Given the description of an element on the screen output the (x, y) to click on. 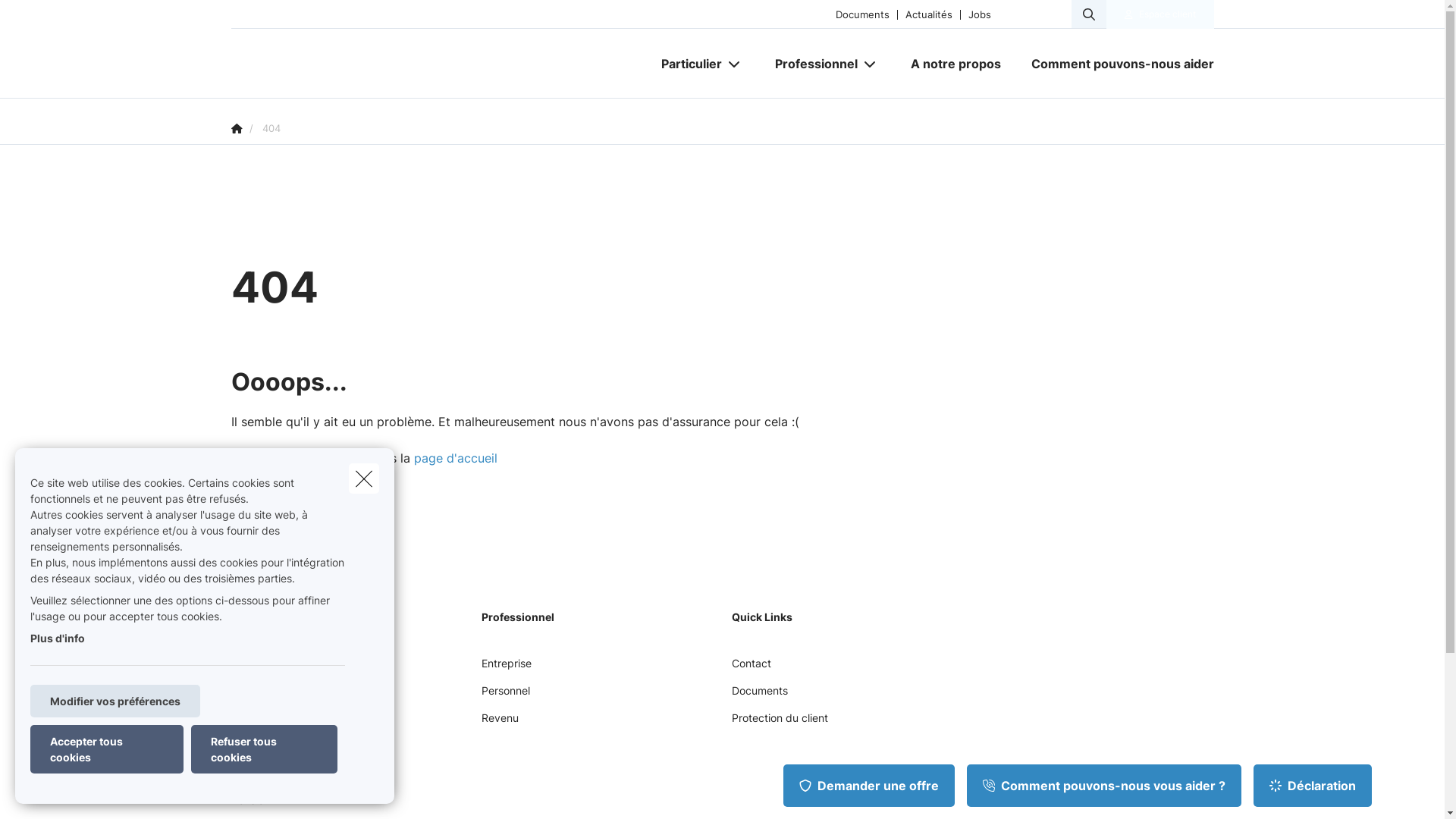
Personnel Element type: text (504, 695)
page d'accueil Element type: text (455, 457)
Hospitalisation Element type: text (266, 750)
Refuser tous cookies Element type: text (264, 748)
Plus d'info Element type: text (57, 637)
A notre propos Element type: text (954, 63)
Entreprise Element type: text (505, 668)
Espace client Element type: text (1167, 14)
Rechercher Element type: text (54, 18)
Comment pouvons-nous aider Element type: text (1115, 63)
Revenu Element type: text (498, 723)
Professionnel Element type: text (810, 63)
Accepter tous cookies Element type: text (106, 748)
Documents Element type: text (862, 13)
Espace client Element type: text (1160, 14)
Jobs Element type: text (979, 13)
Comment pouvons-nous vous aider ? Element type: text (1103, 785)
Documents Element type: text (759, 695)
Contact Element type: text (750, 668)
Particulier Element type: text (685, 63)
Demander une offre Element type: text (868, 785)
Habitation Element type: text (255, 695)
Protection du client Element type: text (779, 723)
Famille et protection juridique Element type: text (303, 723)
